Given the description of an element on the screen output the (x, y) to click on. 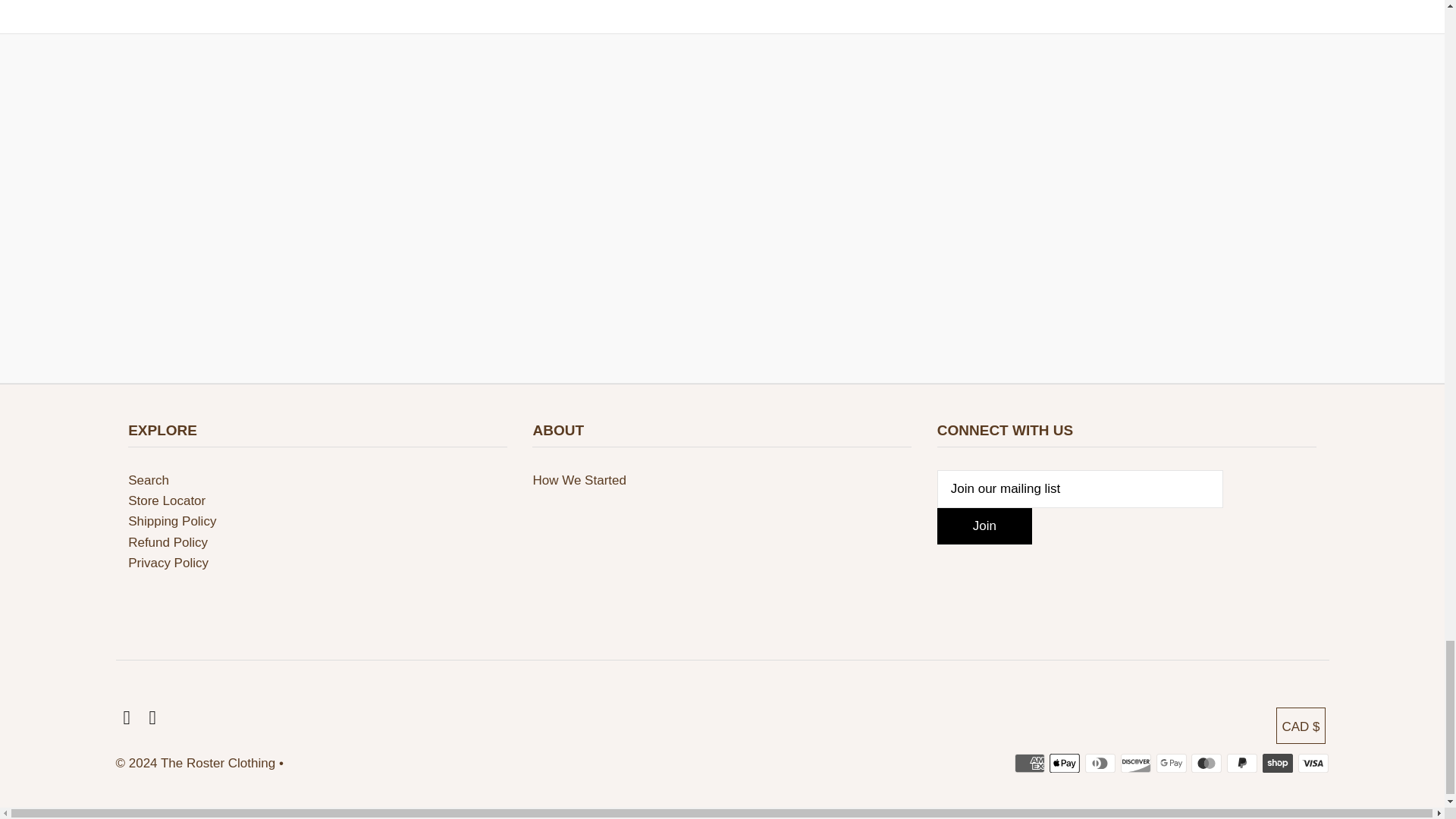
Discover (1136, 763)
Diners Club (1099, 763)
Apple Pay (1064, 763)
Visa (1312, 763)
PayPal (1242, 763)
Shop Pay (1277, 763)
Join (984, 525)
American Express (1029, 763)
Mastercard (1206, 763)
Google Pay (1171, 763)
